Given the description of an element on the screen output the (x, y) to click on. 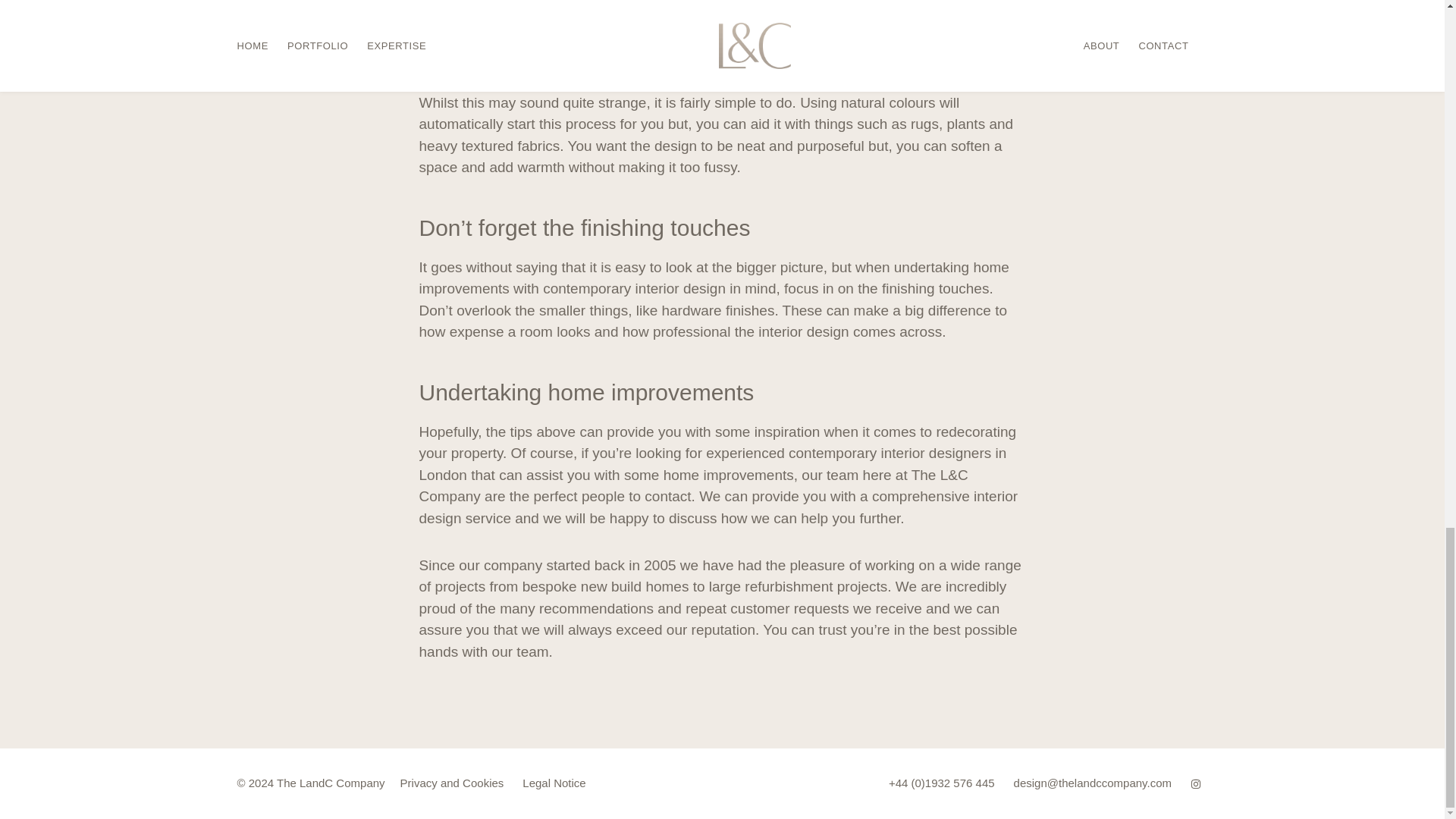
Privacy and Cookies (451, 783)
Legal Notice (553, 783)
